Given the description of an element on the screen output the (x, y) to click on. 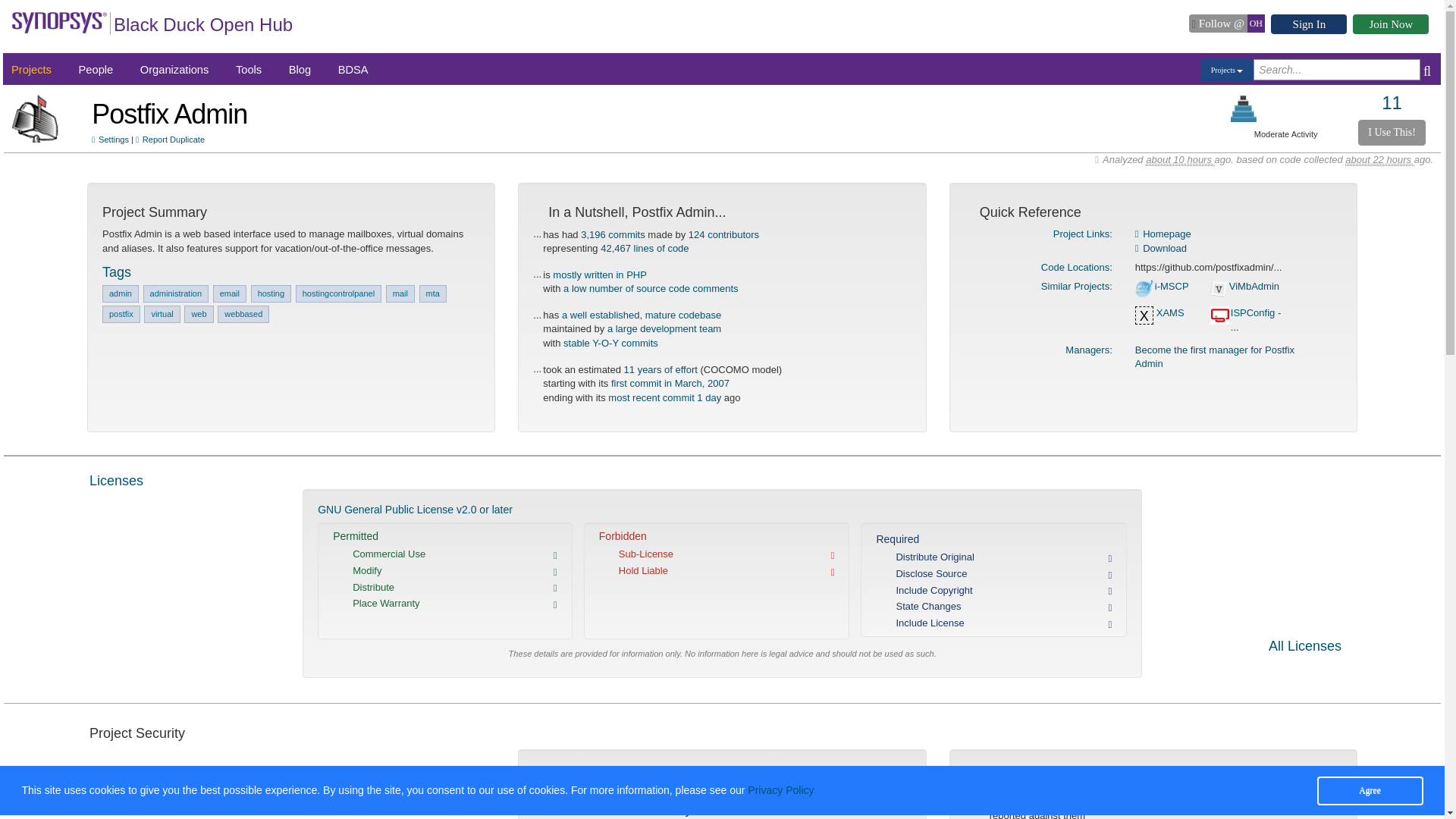
email (229, 293)
124 contributors (723, 234)
Organizations (173, 69)
 Settings (110, 139)
hosting (270, 293)
virtual (161, 313)
administration (175, 293)
Black Duck Open Hub (202, 27)
Projects (1226, 69)
Join Now (1390, 24)
Moderate Activity (1243, 108)
Tools (248, 69)
42,467 lines of code (643, 247)
Projects (30, 69)
 Report Duplicate (170, 139)
